Given the description of an element on the screen output the (x, y) to click on. 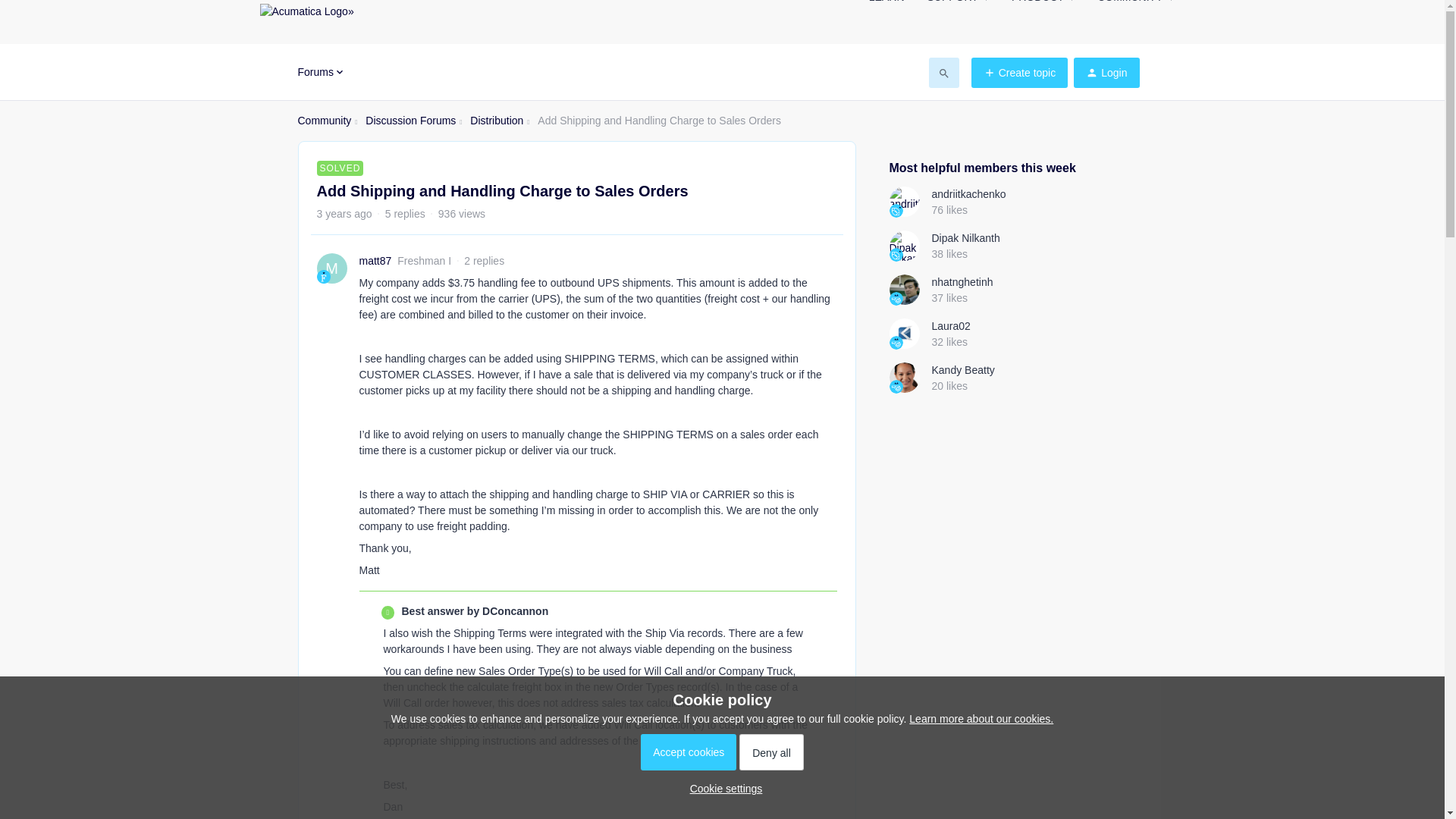
LEARN (886, 6)
SUPPORT (957, 6)
PRODUCT (1042, 6)
COMMUNITY (1135, 6)
Forums (321, 71)
